Given the description of an element on the screen output the (x, y) to click on. 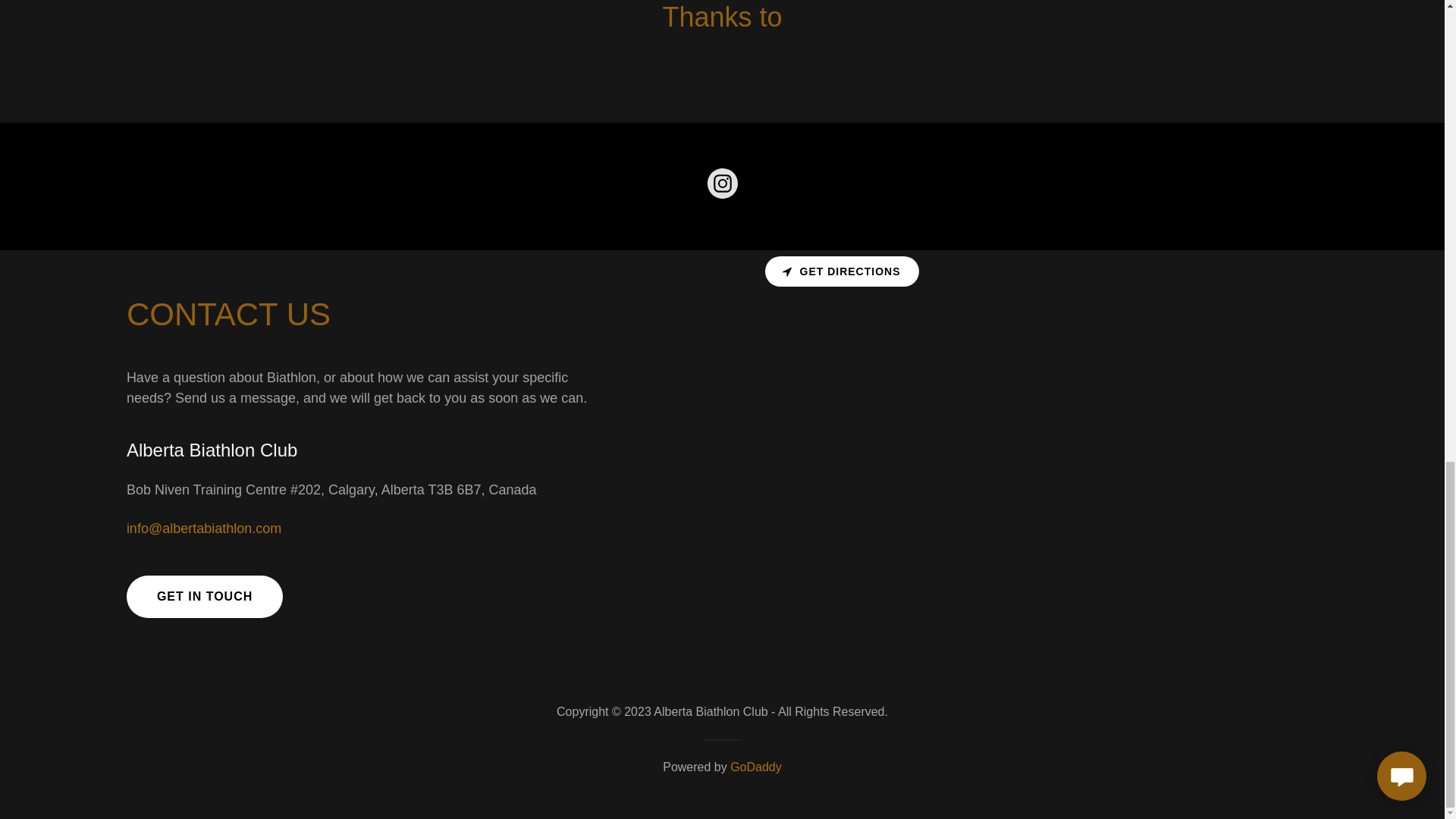
GoDaddy (755, 766)
GET DIRECTIONS (841, 271)
GET IN TOUCH (204, 596)
